Given the description of an element on the screen output the (x, y) to click on. 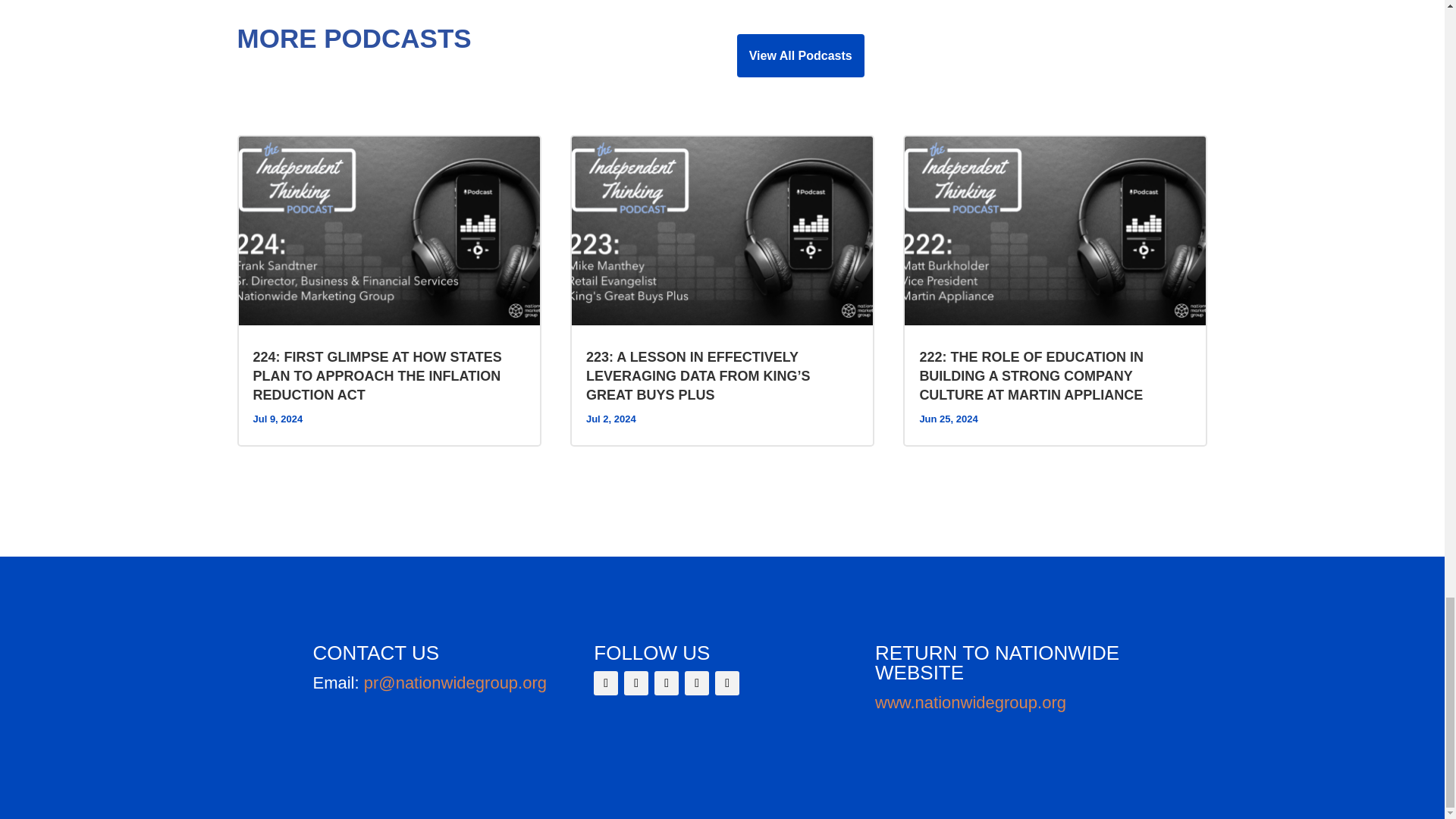
View All Podcasts (800, 55)
